Given the description of an element on the screen output the (x, y) to click on. 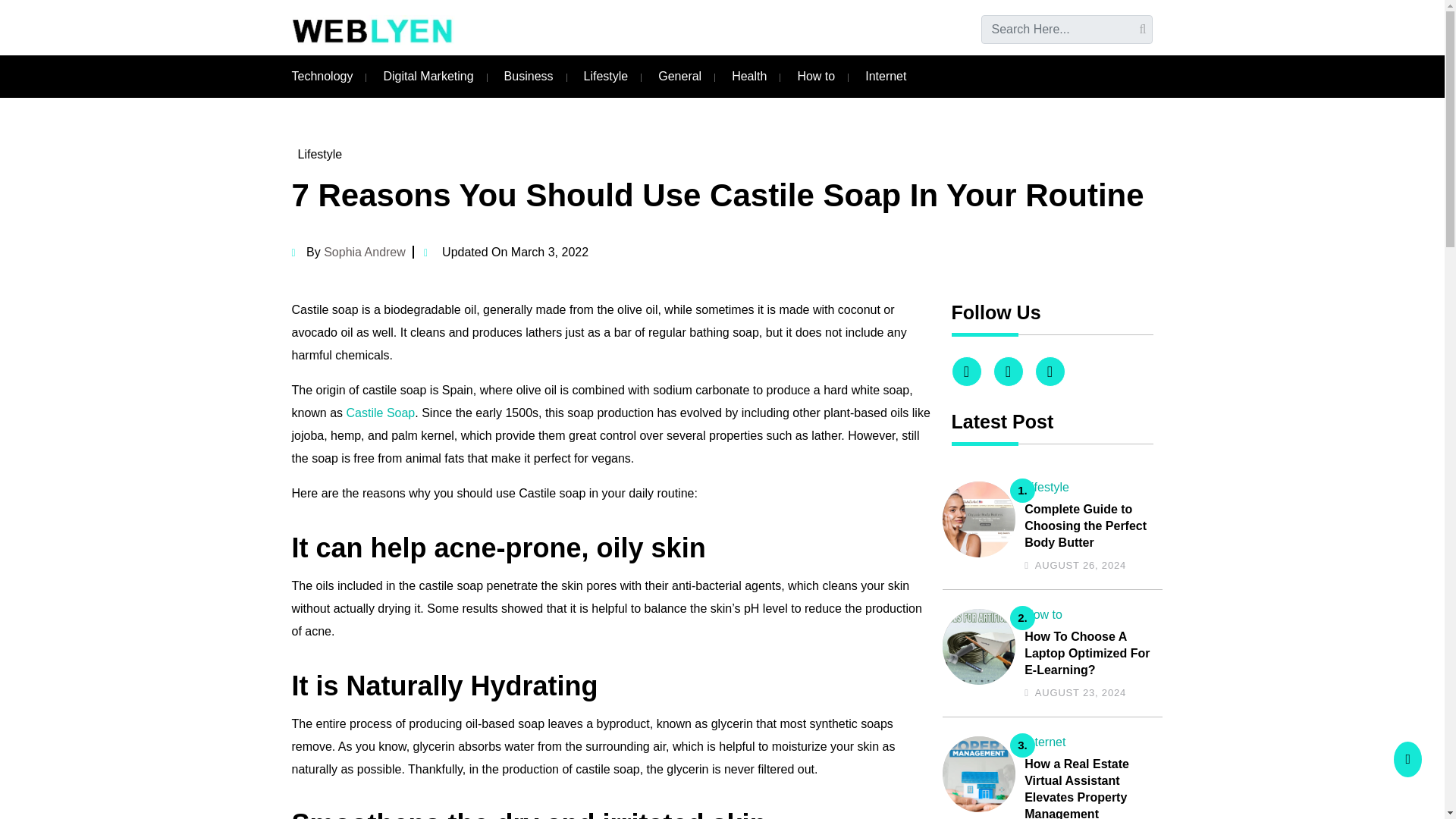
How to (1043, 614)
Internet (1045, 741)
General (679, 75)
Sophia Andrew (364, 251)
Lifestyle (605, 75)
Search for: (1067, 29)
How to (815, 75)
Lifestyle (1046, 486)
Technology (321, 75)
Internet (884, 75)
